Given the description of an element on the screen output the (x, y) to click on. 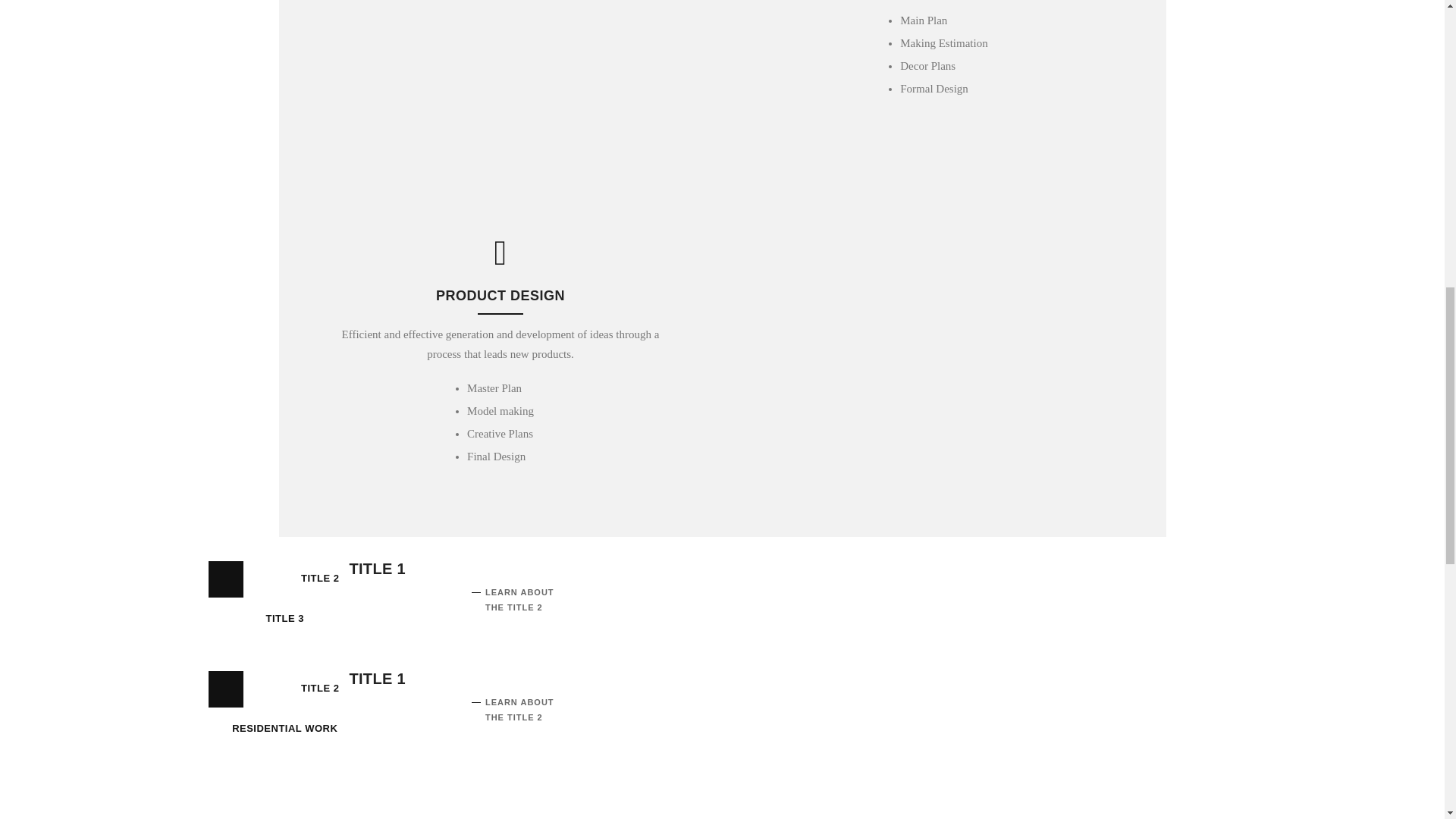
LEARN ABOUT THE TITLE 2 (519, 709)
LEARN ABOUT THE TITLE 2 (519, 599)
